Given the description of an element on the screen output the (x, y) to click on. 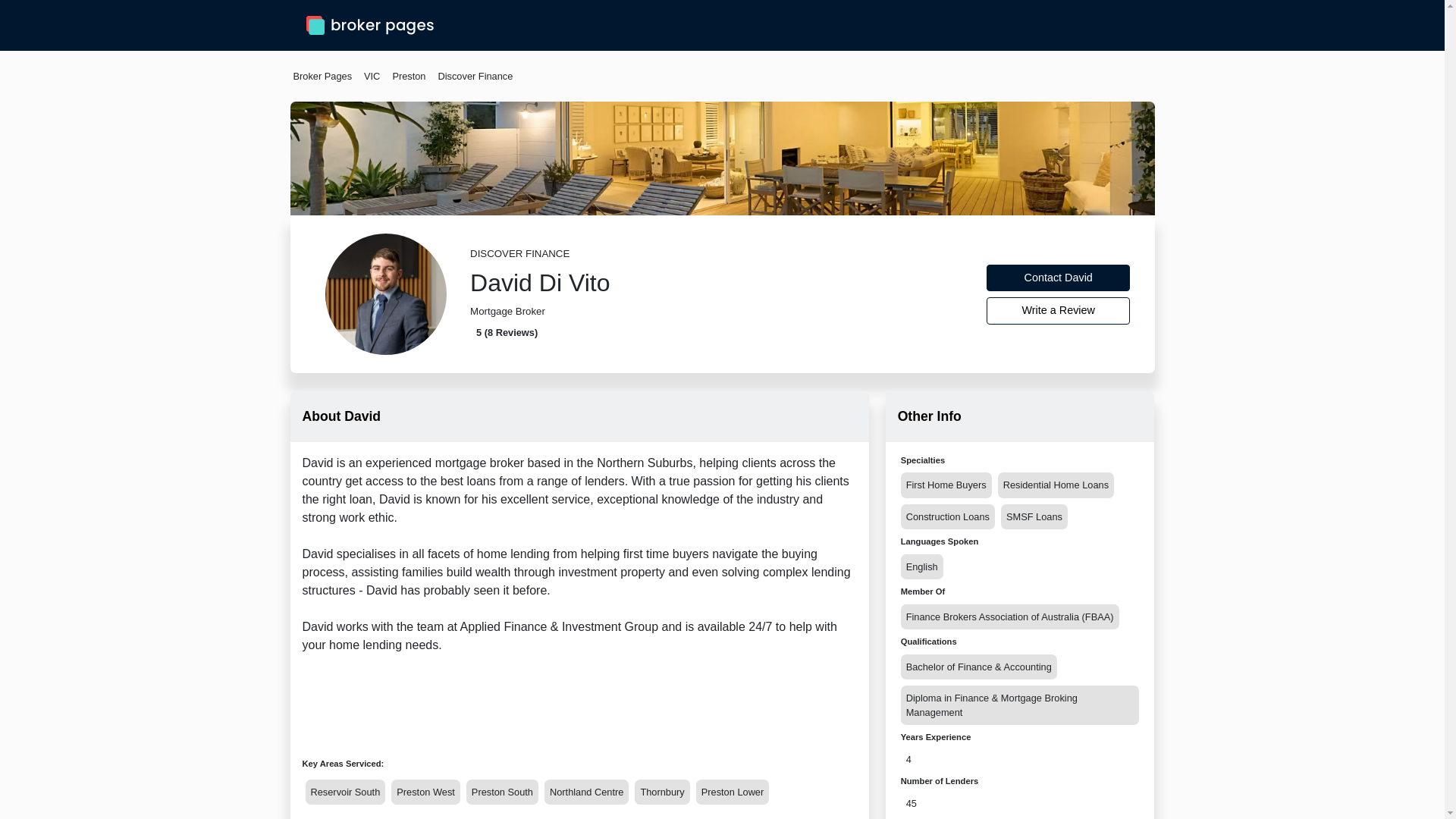
Northland Centre (586, 791)
Write a Review (1059, 310)
Reservoir South (344, 791)
Preston (408, 75)
Preston West (425, 791)
Broker Pages (322, 75)
Preston South (501, 791)
Thornbury (661, 791)
Contact David (1059, 277)
Preston Lower (732, 791)
